Given the description of an element on the screen output the (x, y) to click on. 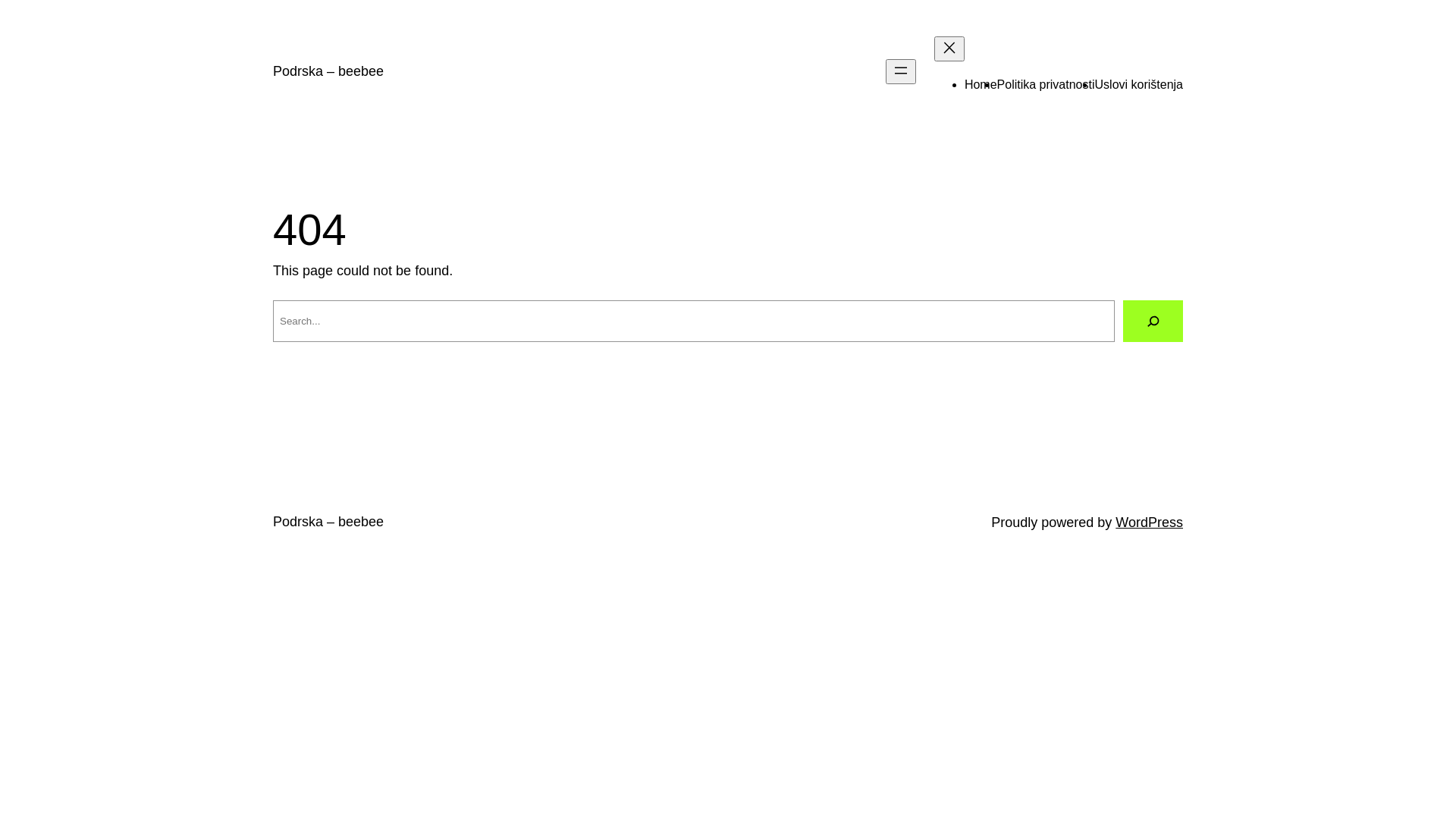
WordPress Element type: text (1149, 522)
Home Element type: text (980, 84)
Politika privatnosti Element type: text (1046, 84)
